Given the description of an element on the screen output the (x, y) to click on. 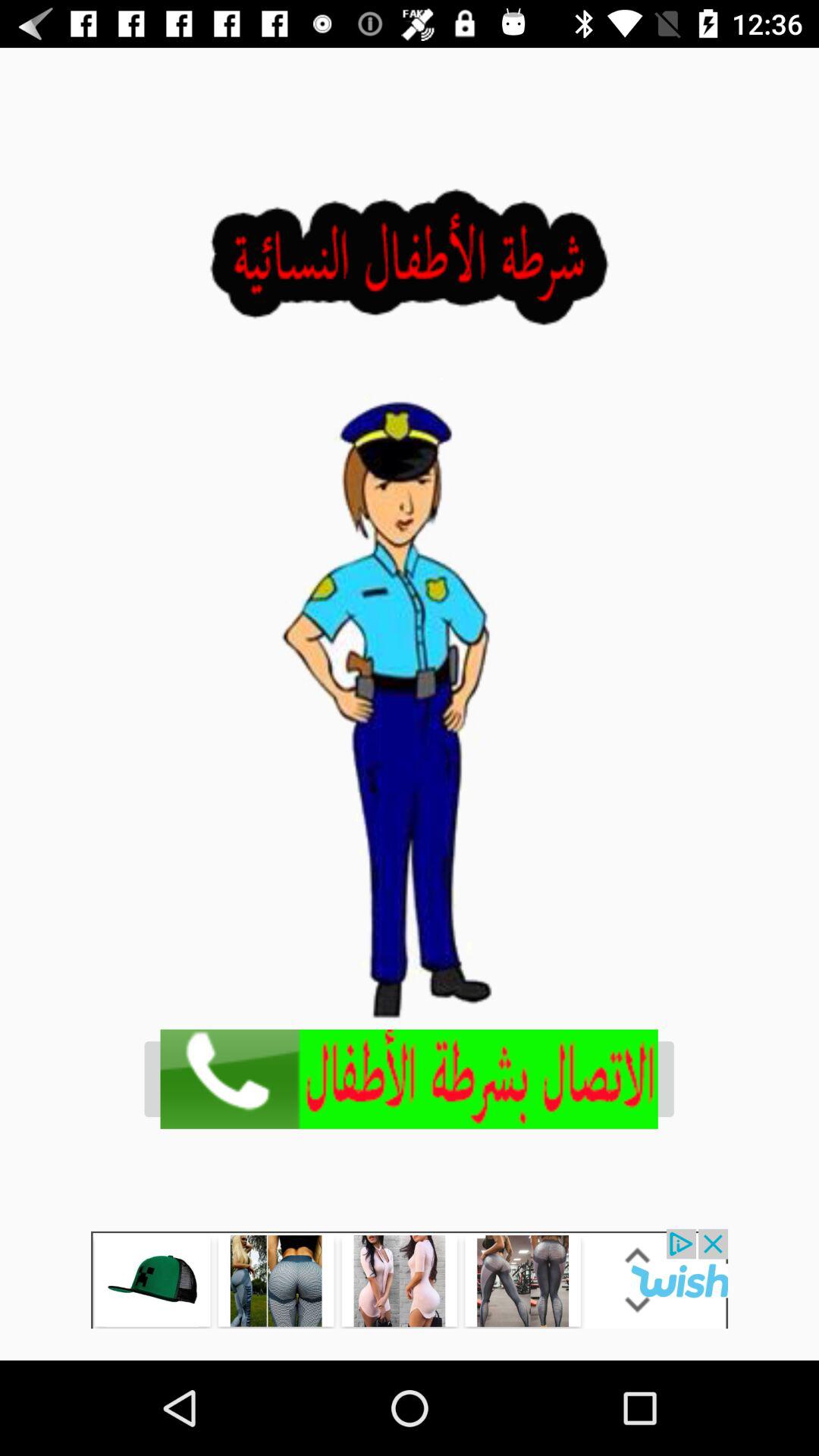
open advertisement (408, 1078)
